Given the description of an element on the screen output the (x, y) to click on. 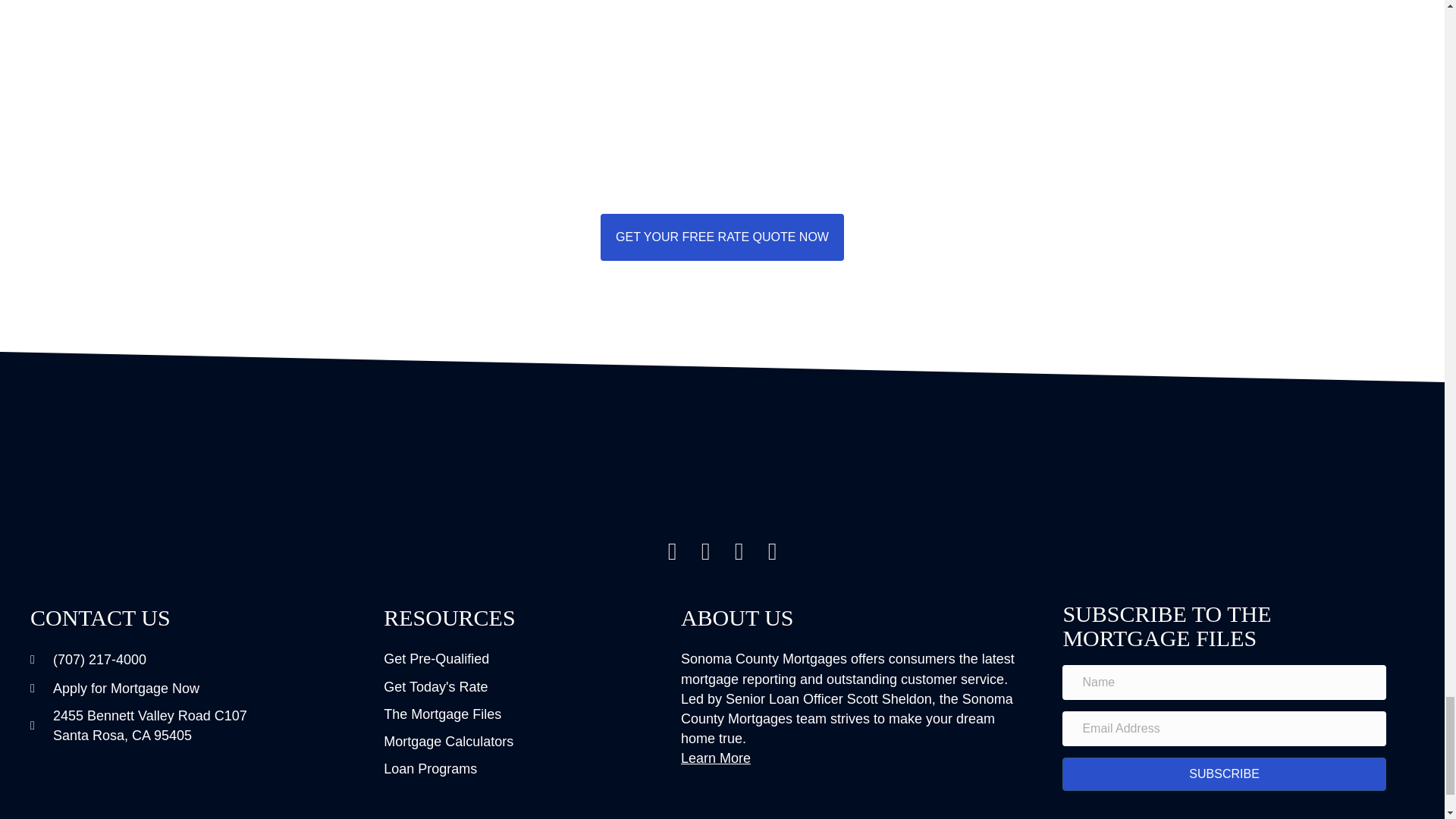
Facebook (706, 551)
Sonoma County Mortgages Scott Sheldon Senior Loan Officer (721, 478)
Google Plus (739, 551)
Instagram (672, 551)
